Given the description of an element on the screen output the (x, y) to click on. 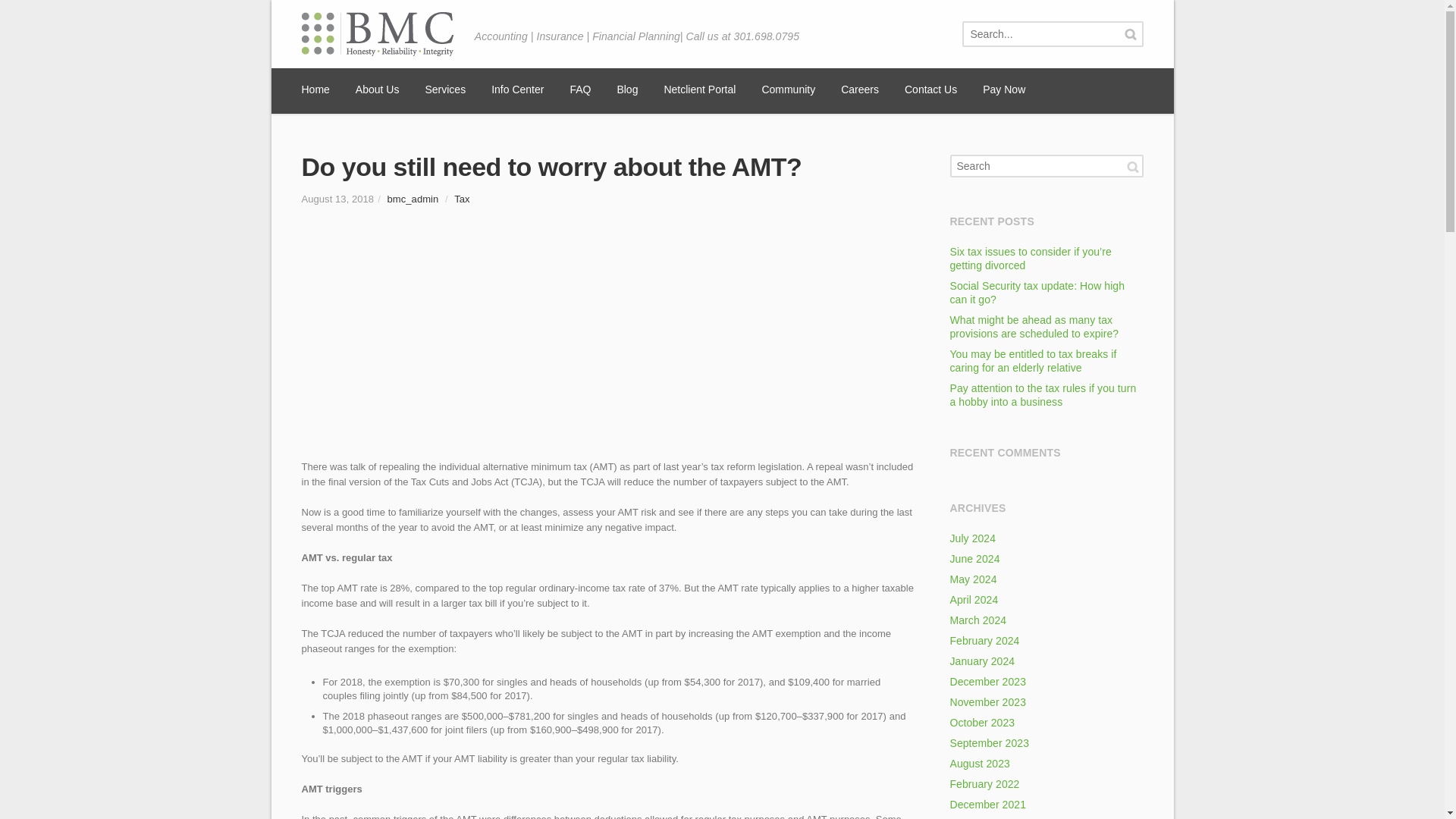
Community (788, 90)
Services (445, 90)
About Us (376, 90)
Search (1129, 34)
Netclient Portal (699, 90)
Pay Now (1003, 90)
Info Center (517, 90)
Contact Us (930, 90)
Tax (461, 198)
